Given the description of an element on the screen output the (x, y) to click on. 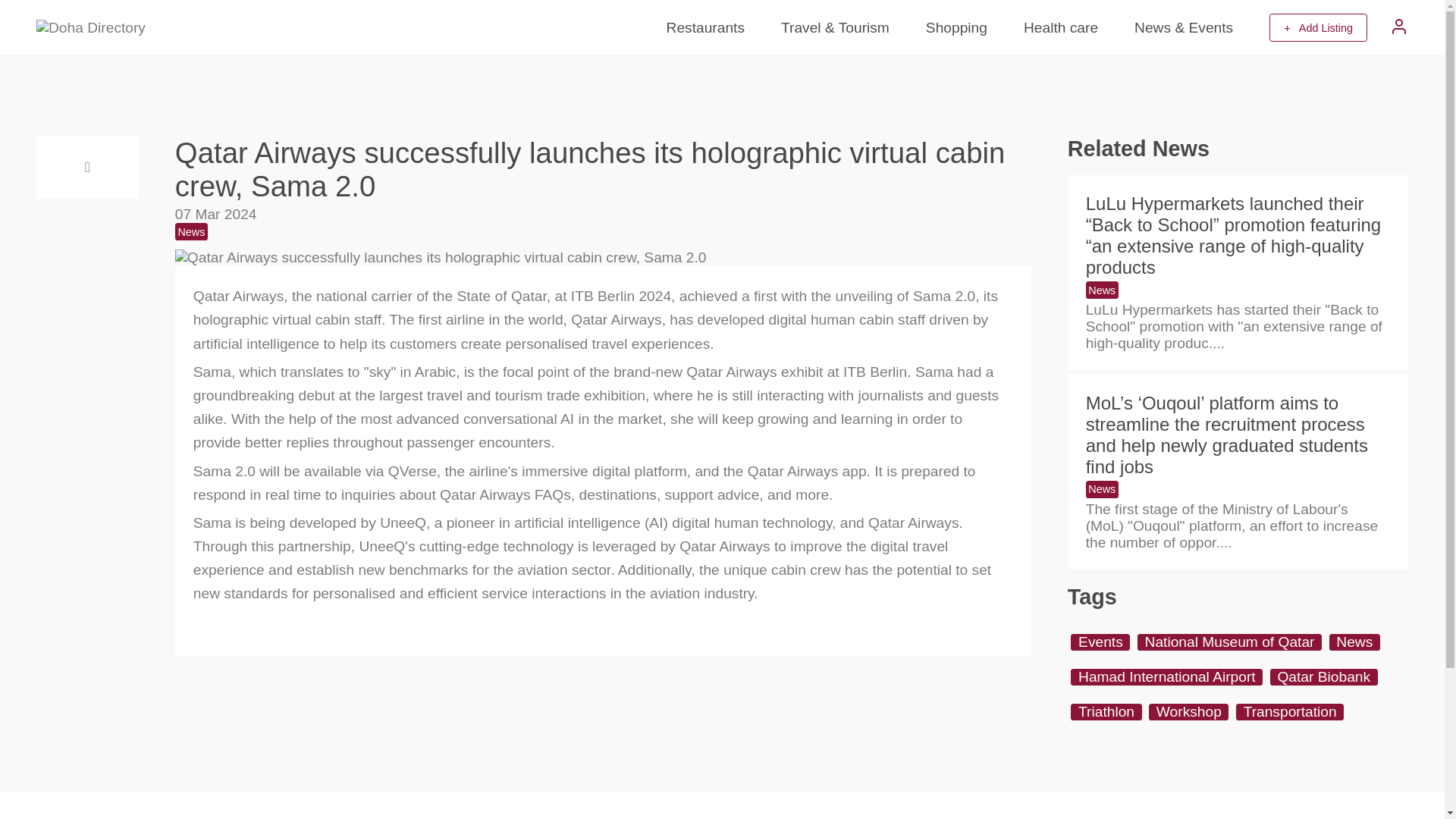
Workshop (1188, 711)
Transportation (1289, 711)
Hamad International Airport (1166, 677)
Qatar Biobank (1323, 677)
Restaurants (705, 27)
Health care (1060, 27)
Events (1099, 641)
News (191, 231)
National Museum of Qatar (1229, 641)
News (1354, 641)
